Given the description of an element on the screen output the (x, y) to click on. 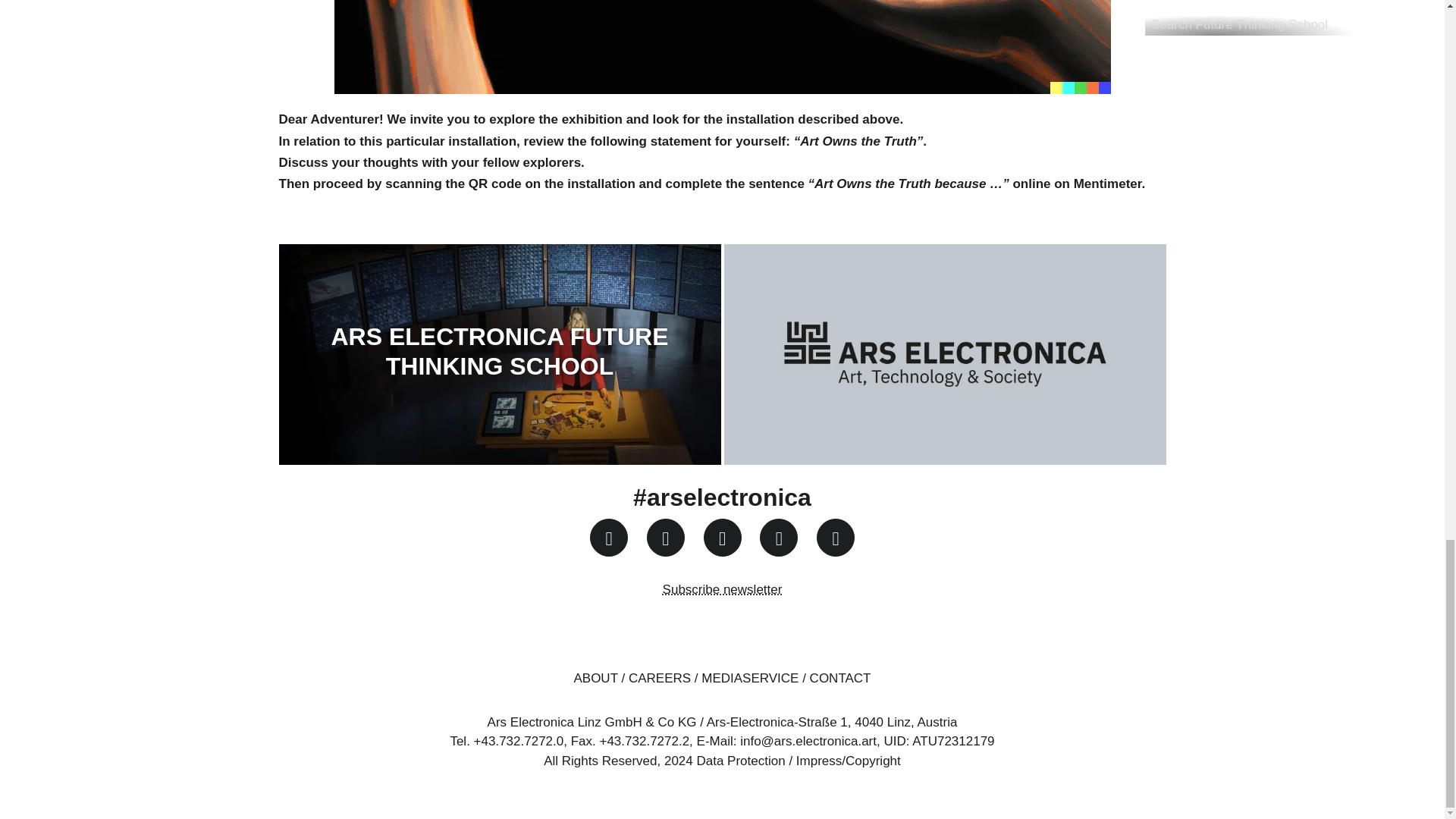
Instagram (608, 537)
Facebook (665, 537)
YouTube (722, 537)
